Given the description of an element on the screen output the (x, y) to click on. 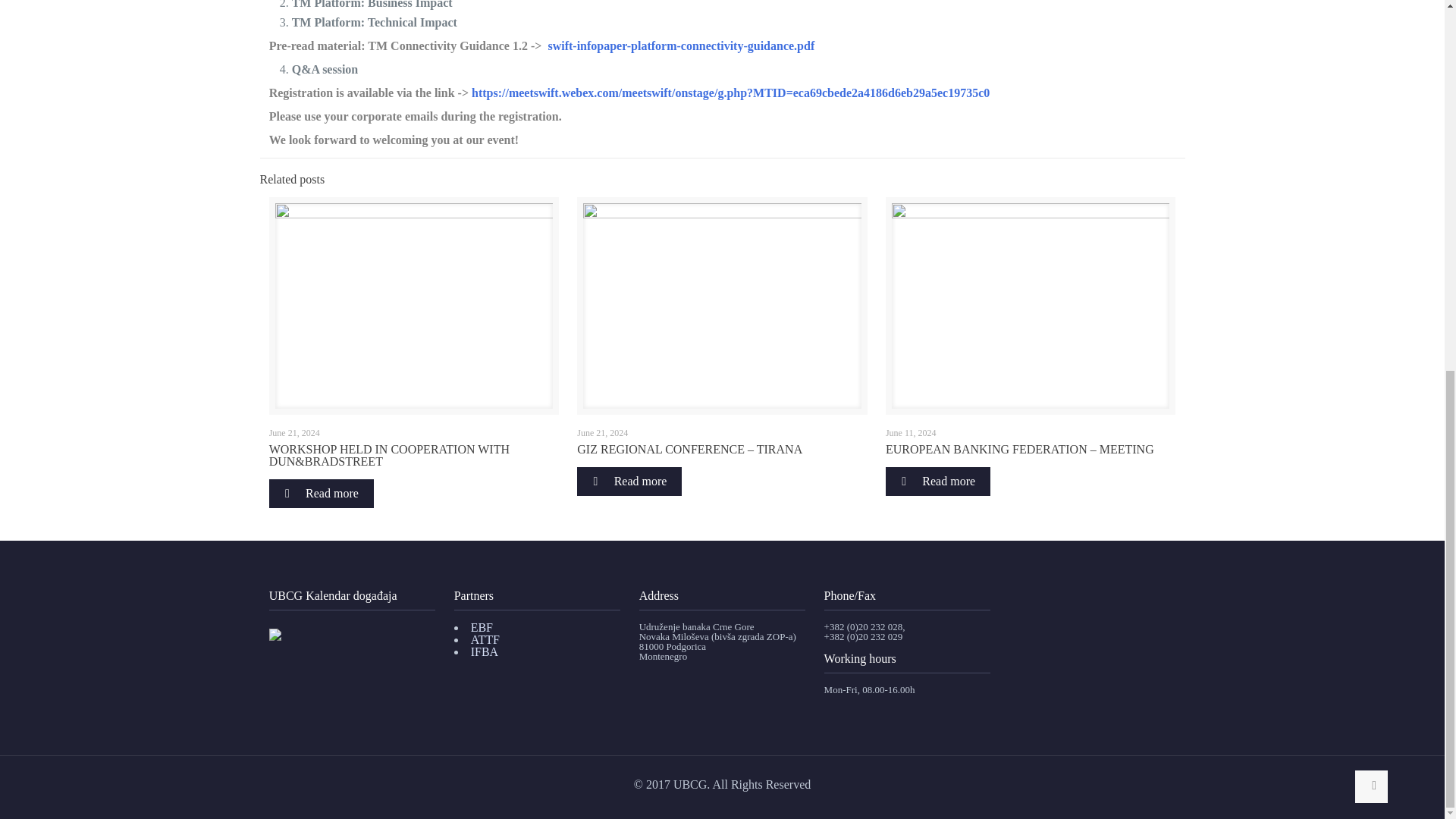
Read more (321, 493)
ATTF (484, 639)
swift-infopaper-platform-connectivity-guidance.pdf (680, 45)
Read more (937, 481)
IFBA (483, 651)
EBF (481, 626)
Read more (628, 481)
